Given the description of an element on the screen output the (x, y) to click on. 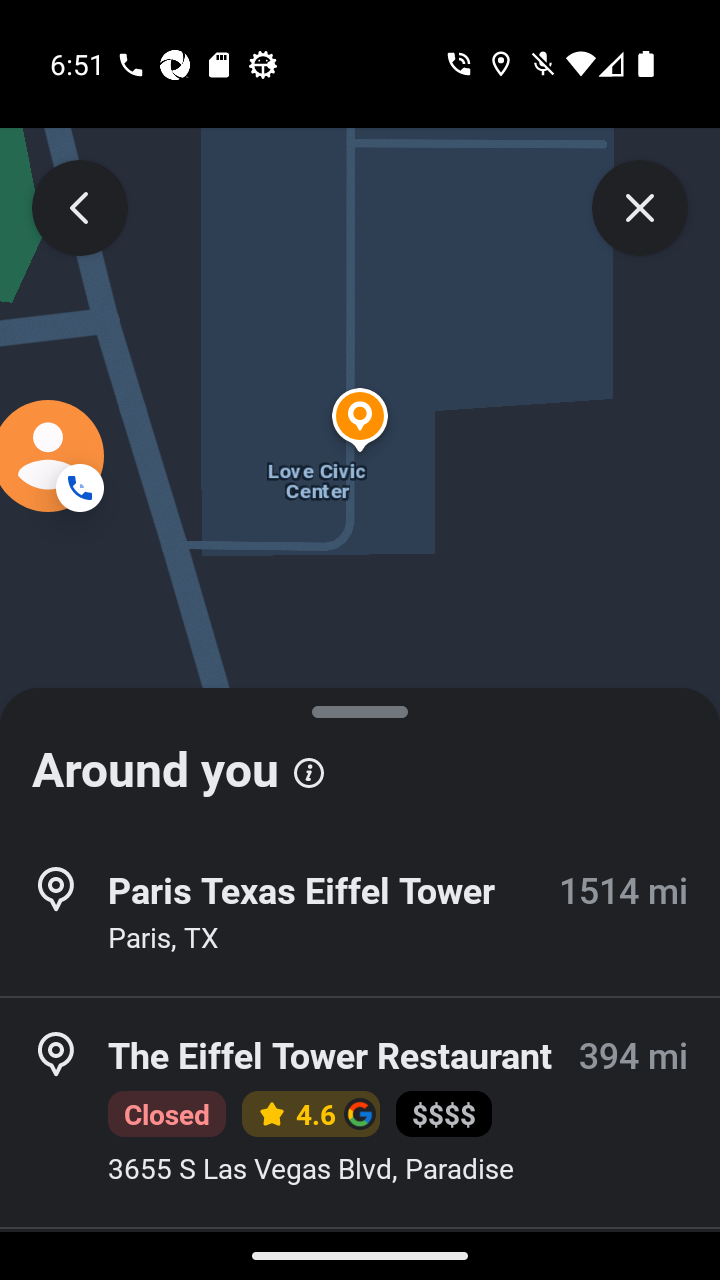
Around you (360, 760)
Paris Texas Eiffel Tower 1514 mi Paris, TX (360, 914)
Eiffel Tower Park 1864 mi (360, 1254)
